Given the description of an element on the screen output the (x, y) to click on. 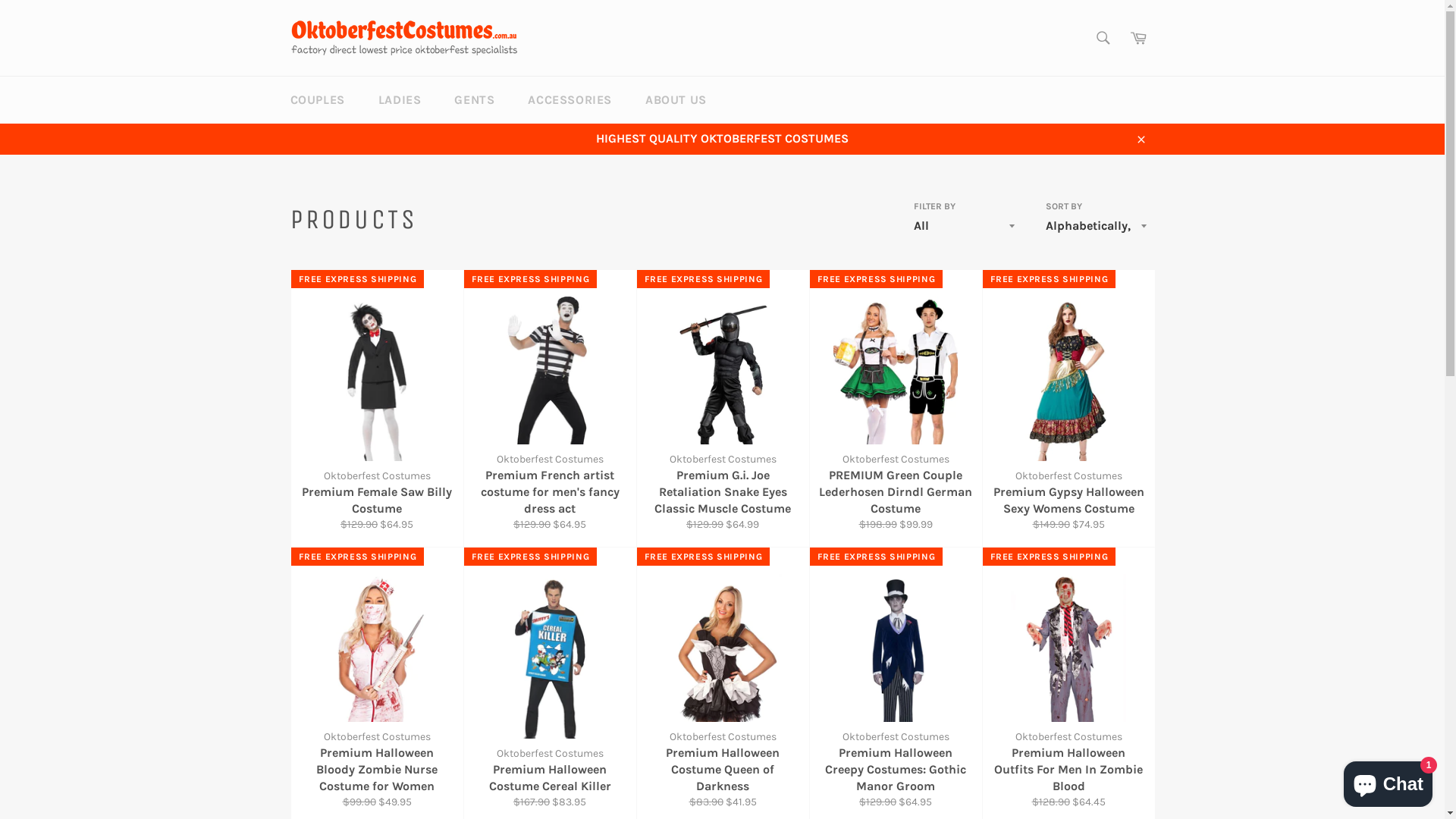
ACCESSORIES Element type: text (569, 99)
Cart Element type: text (1138, 37)
ABOUT US Element type: text (675, 99)
COUPLES Element type: text (316, 99)
LADIES Element type: text (399, 99)
Search Element type: text (1102, 37)
GENTS Element type: text (474, 99)
Close Element type: text (1139, 138)
Shopify online store chat Element type: hover (1388, 780)
HIGHEST QUALITY OKTOBERFEST COSTUMES Element type: text (721, 138)
